Given the description of an element on the screen output the (x, y) to click on. 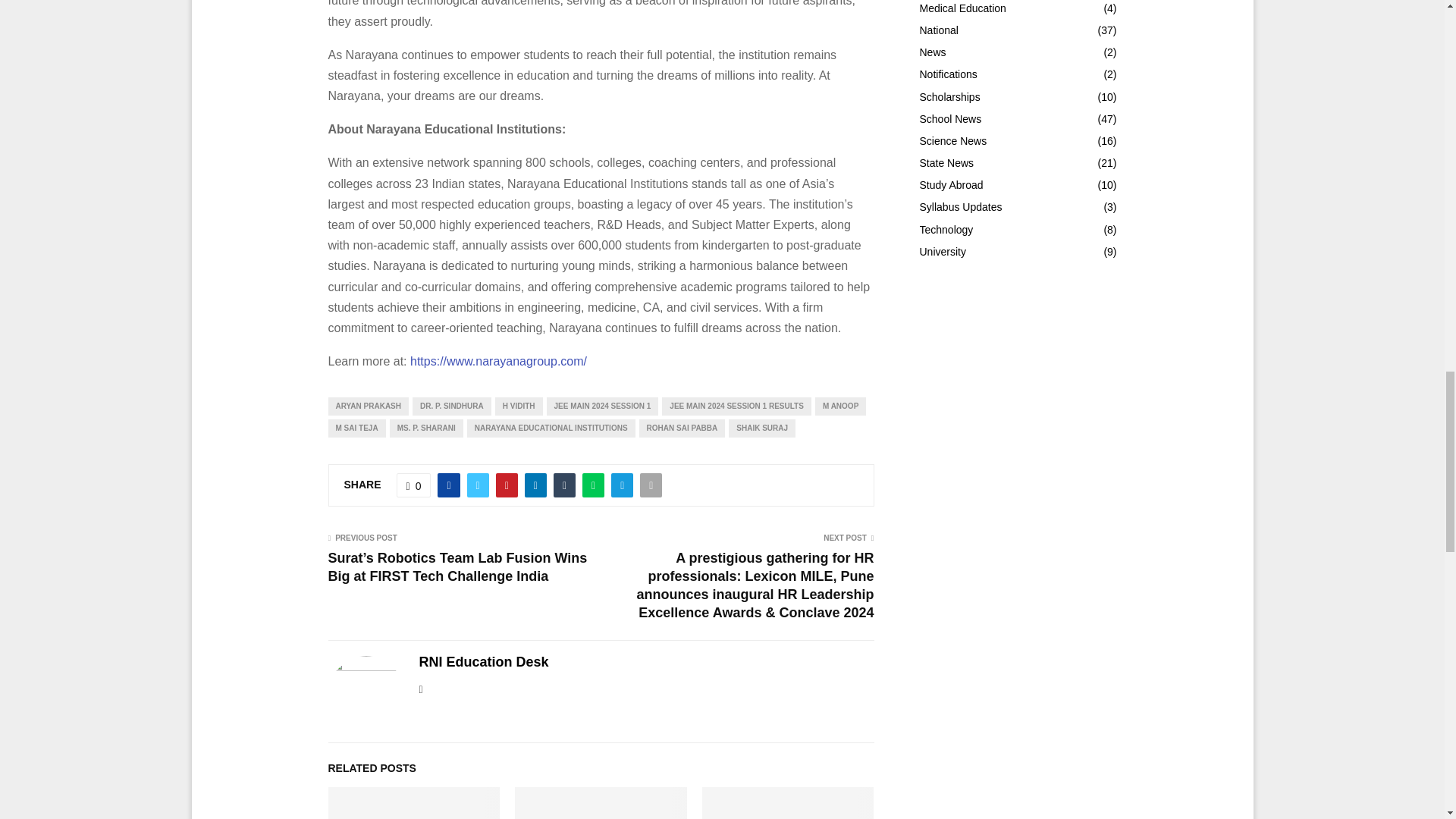
Like (413, 485)
